Given the description of an element on the screen output the (x, y) to click on. 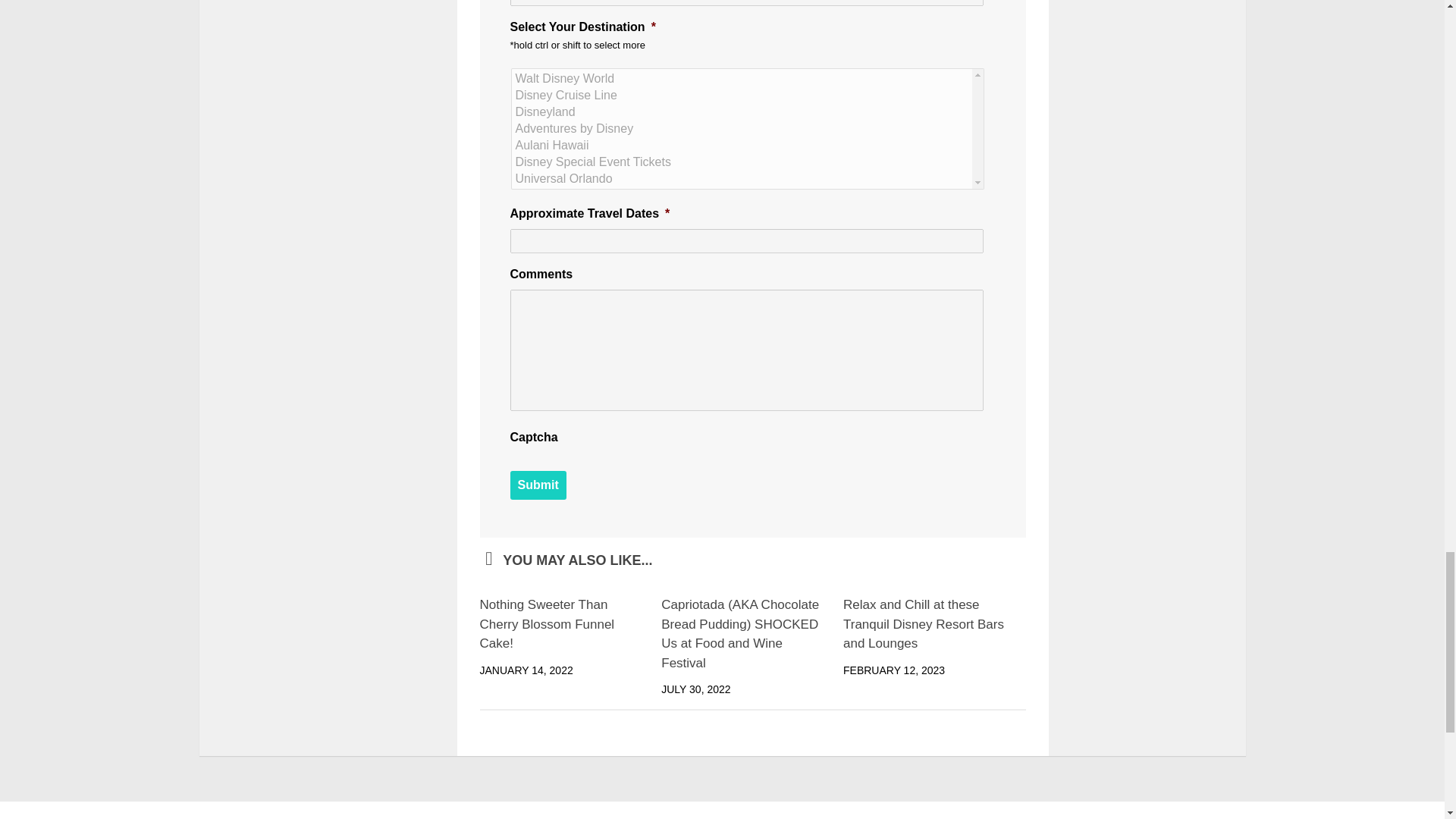
Submit (537, 484)
